Given the description of an element on the screen output the (x, y) to click on. 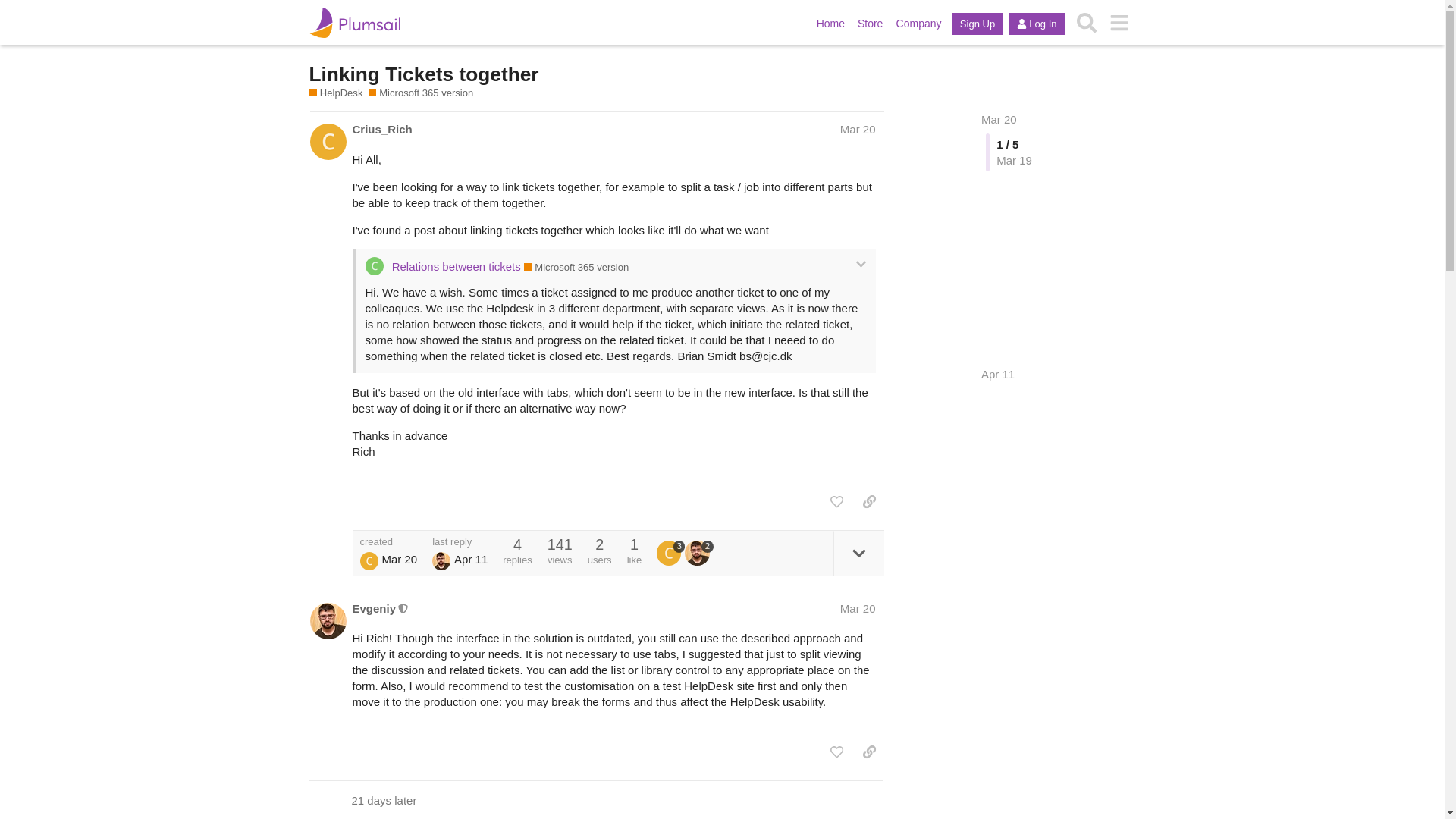
Company (924, 23)
Log In (1036, 24)
Relations between tickets (456, 266)
3 (670, 552)
like this post (836, 501)
Evgeniy (374, 608)
last reply (459, 542)
Discussions about Plumsail HelpDesk product. (335, 92)
Home (836, 23)
menu (1119, 22)
